Given the description of an element on the screen output the (x, y) to click on. 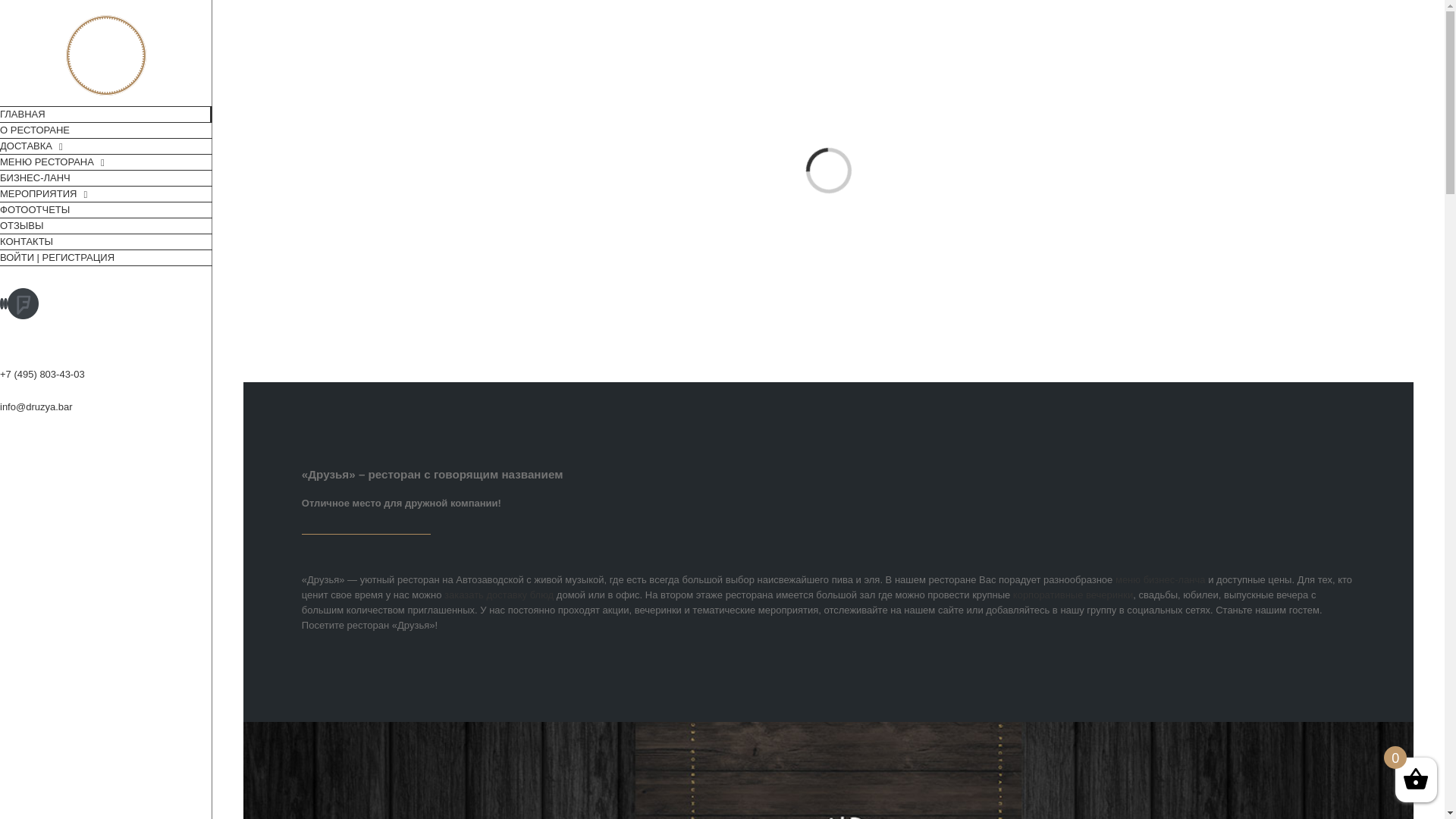
+7 (495) 803-43-03 Element type: text (42, 373)
Instagram Element type: text (5, 303)
Foursquare Element type: text (22, 295)
info@druzya.bar Element type: text (36, 406)
Vk Element type: text (1, 303)
